Given the description of an element on the screen output the (x, y) to click on. 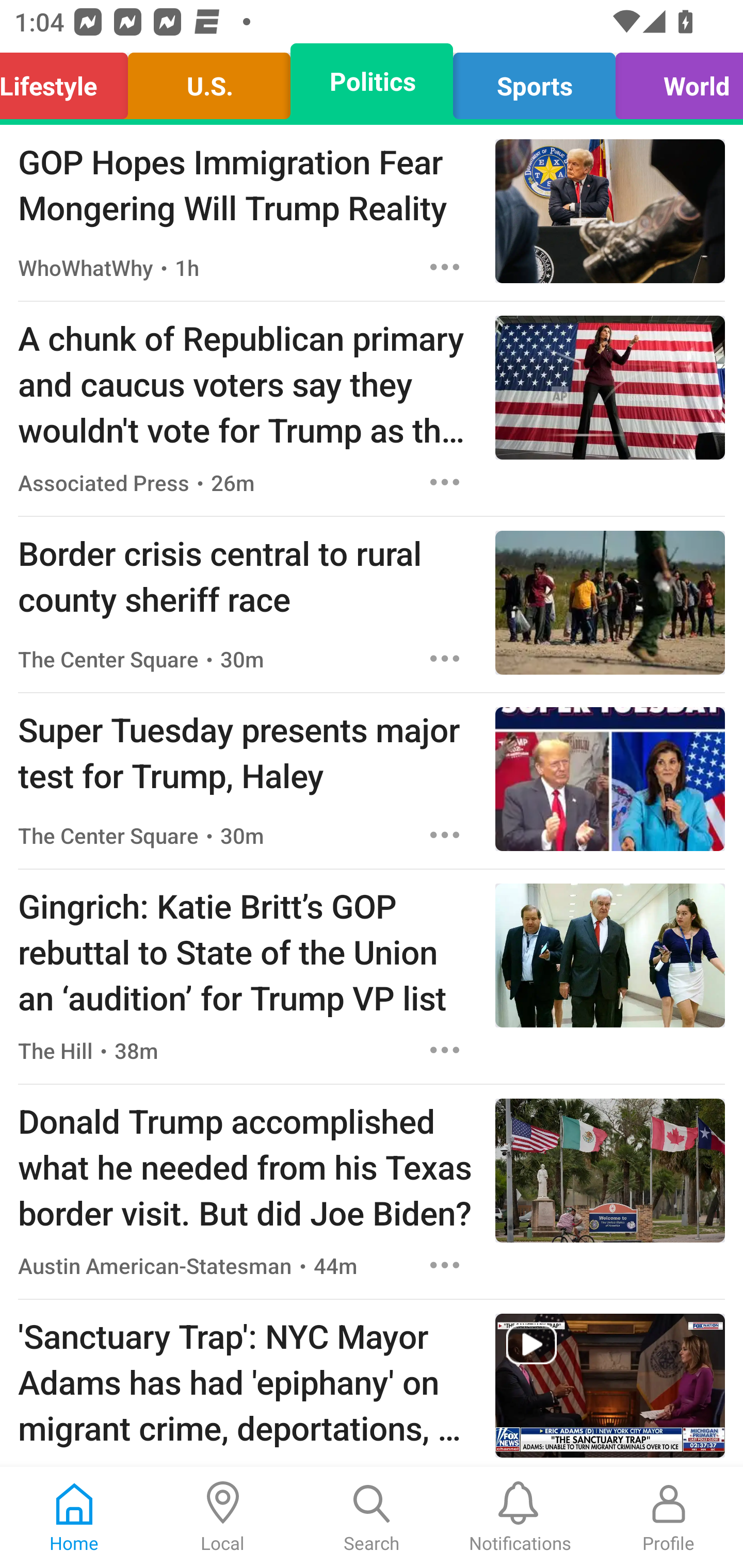
Lifestyle (69, 81)
U.S. (209, 81)
Politics (371, 81)
Sports (534, 81)
World (673, 81)
Options (444, 267)
Options (444, 481)
Options (444, 658)
Options (444, 834)
Options (444, 1050)
Options (444, 1265)
Local (222, 1517)
Search (371, 1517)
Notifications (519, 1517)
Profile (668, 1517)
